Given the description of an element on the screen output the (x, y) to click on. 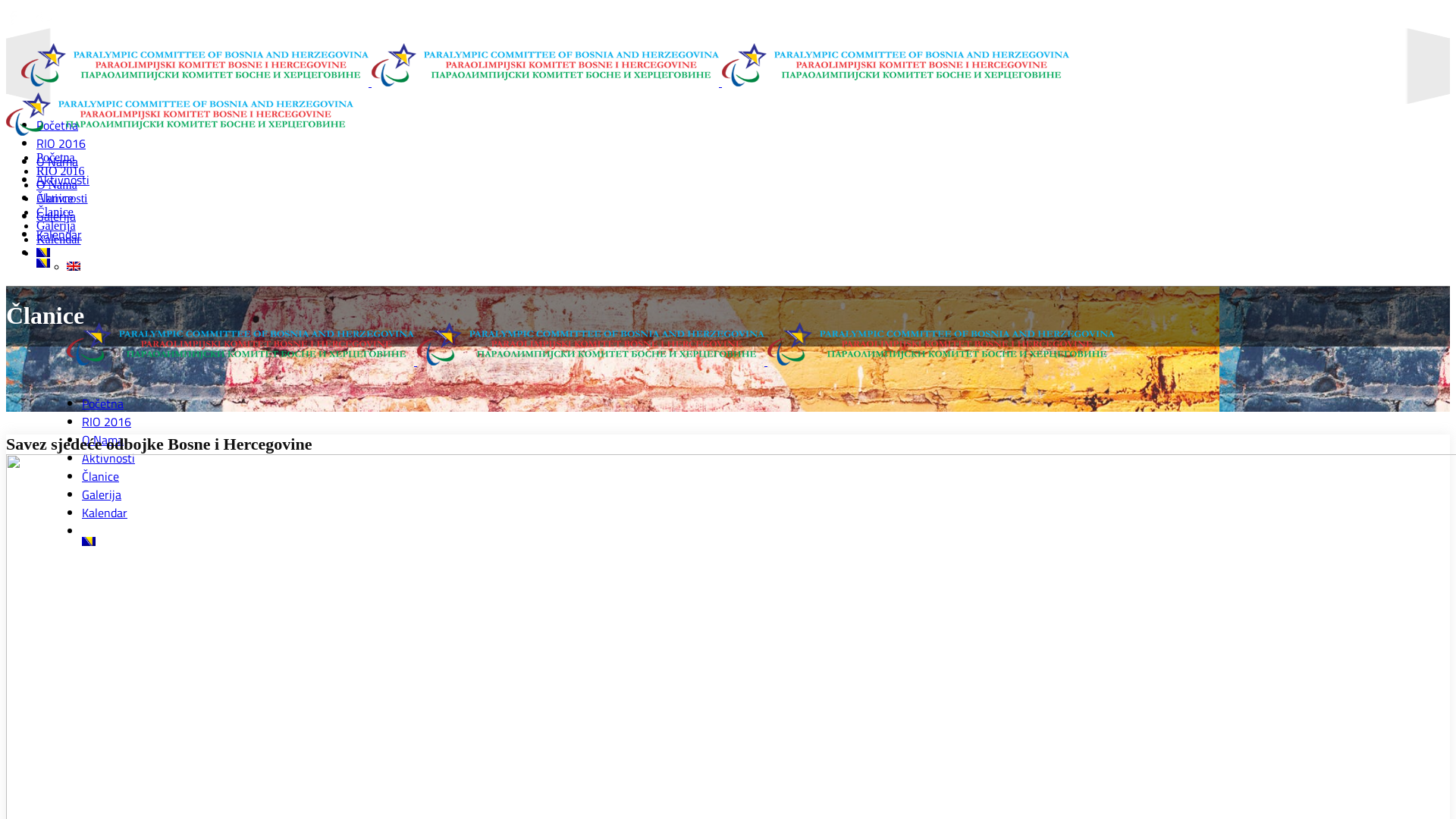
Aktivnosti Element type: text (61, 197)
Aktivnosti Element type: text (107, 457)
O Nama Element type: text (102, 439)
Bosnian Element type: hover (88, 541)
O Nama Element type: text (56, 184)
English Element type: hover (73, 265)
RIO 2016 Element type: text (60, 170)
Aktivnosti Element type: text (62, 179)
RIO 2016 Element type: text (60, 143)
RIO 2016 Element type: text (106, 421)
Kalendar Element type: text (104, 512)
Kalendar Element type: text (58, 234)
Bosnian Element type: hover (43, 252)
Galerija Element type: text (55, 225)
Galerija Element type: text (55, 216)
Kalendar Element type: text (58, 238)
Bosnian Element type: hover (43, 262)
Galerija Element type: text (101, 494)
O Nama Element type: text (57, 161)
